Given the description of an element on the screen output the (x, y) to click on. 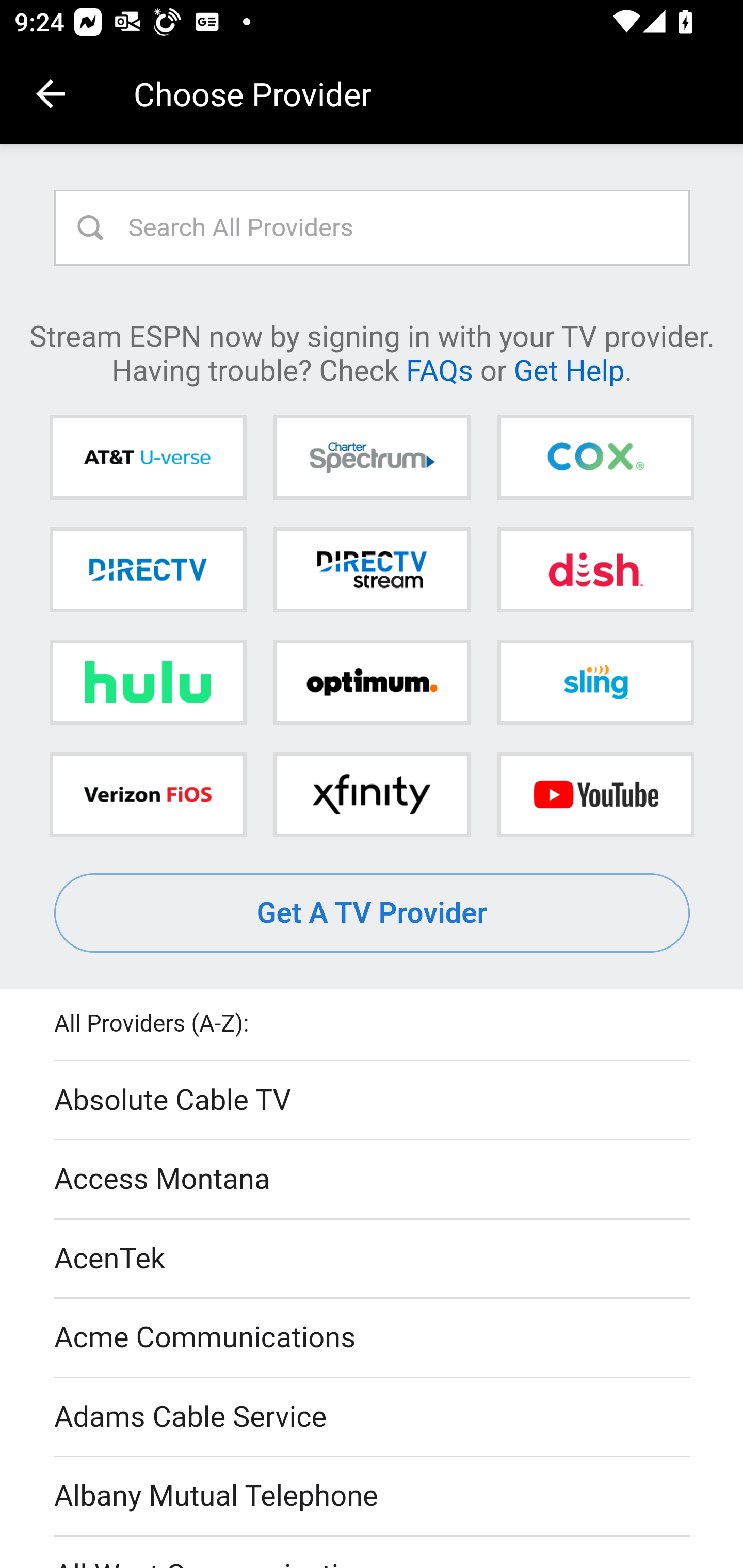
Navigate up (50, 93)
FAQs (438, 369)
Get Help (569, 369)
AT&T U-verse (147, 457)
Charter Spectrum (371, 457)
Cox (595, 457)
DIRECTV (147, 568)
DIRECTV STREAM (371, 568)
DISH (595, 568)
Hulu (147, 681)
Optimum (371, 681)
Sling TV (595, 681)
Verizon FiOS (147, 793)
Xfinity (371, 793)
YouTube TV (595, 793)
Get A TV Provider (372, 912)
Absolute Cable TV (372, 1100)
Access Montana (372, 1178)
AcenTek (372, 1258)
Acme Communications (372, 1338)
Adams Cable Service (372, 1417)
Albany Mutual Telephone (372, 1497)
